Given the description of an element on the screen output the (x, y) to click on. 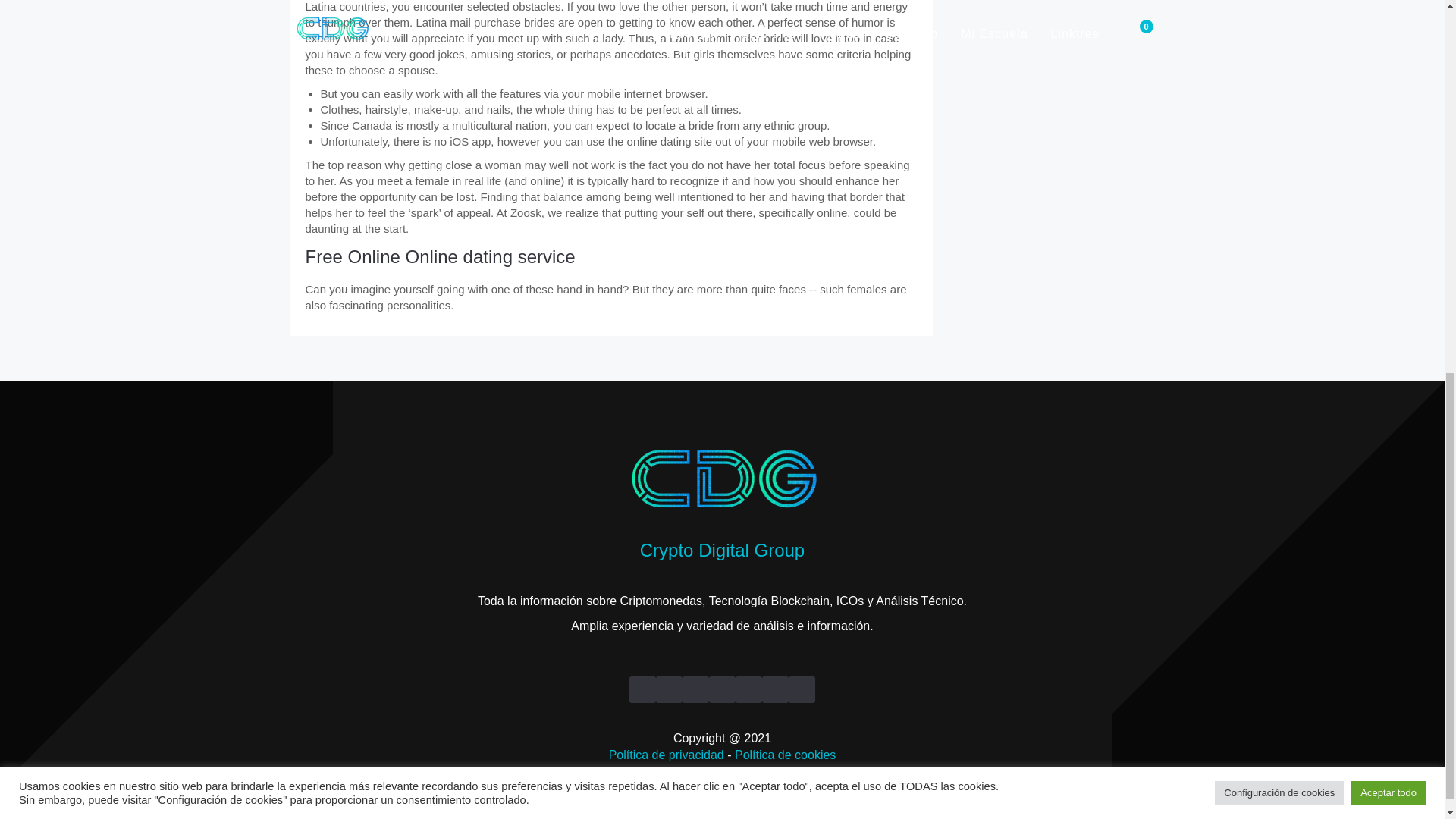
Aceptar todo (1388, 95)
